Given the description of an element on the screen output the (x, y) to click on. 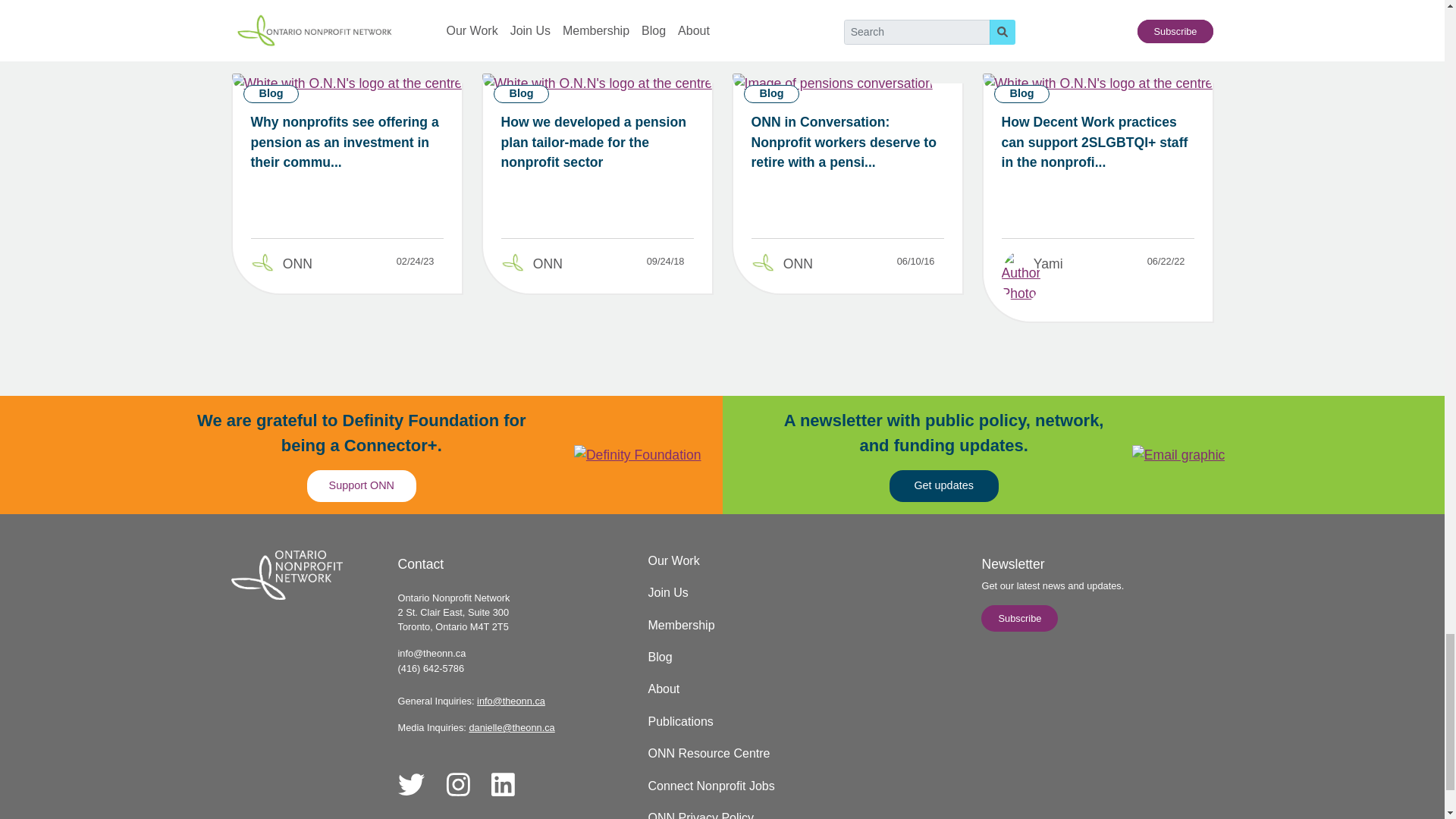
Support ONN (361, 486)
ONN (547, 263)
Yami (1047, 263)
ONN (297, 263)
ONN (797, 263)
Get updates (943, 486)
